Given the description of an element on the screen output the (x, y) to click on. 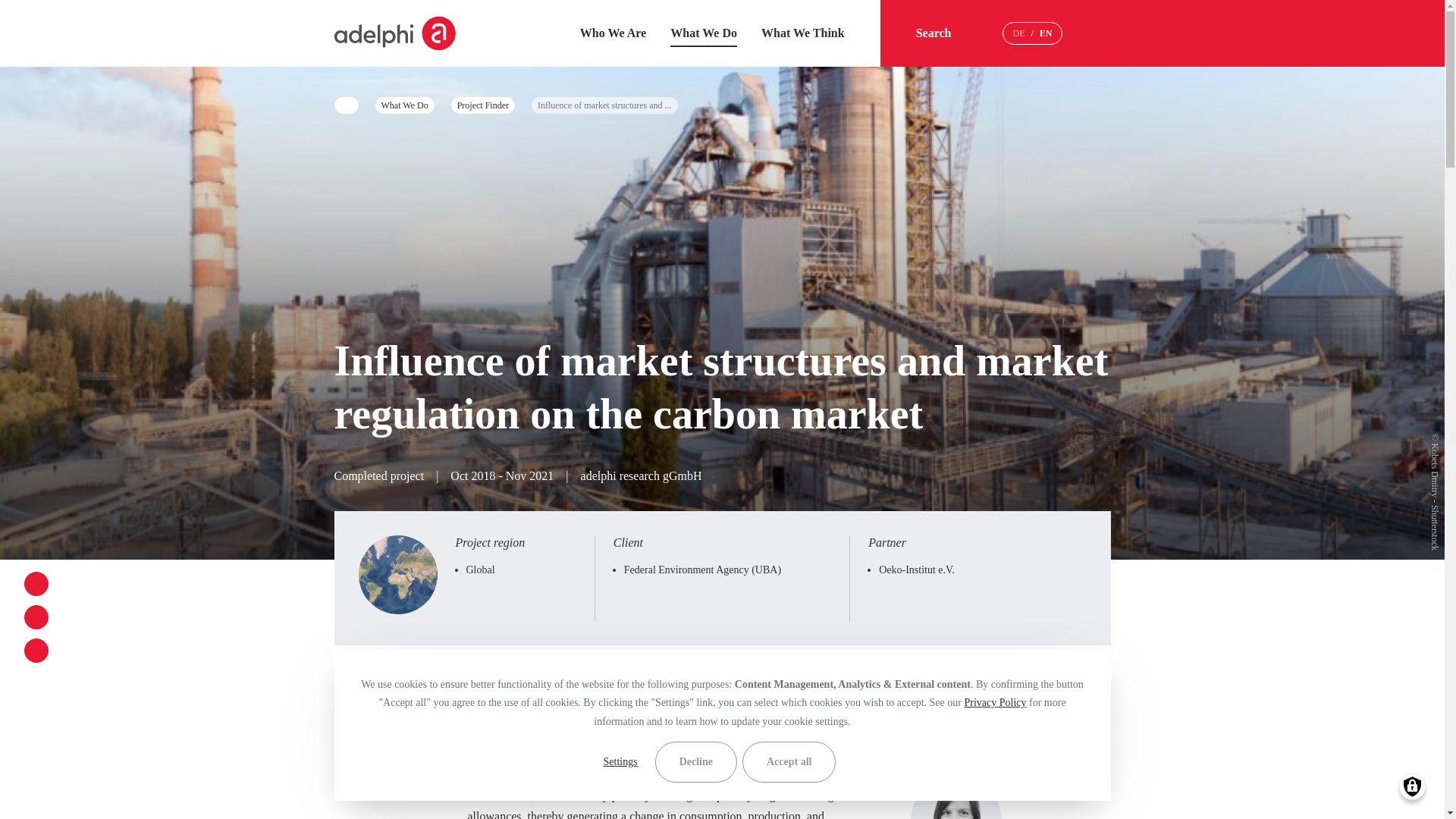
EN (1045, 32)
Menu (1097, 33)
Who We Are (612, 32)
Home (394, 33)
Search (946, 33)
What We Think (802, 32)
English (1045, 32)
What We Do (702, 32)
DE (1018, 32)
Deutsch (1018, 32)
